Given the description of an element on the screen output the (x, y) to click on. 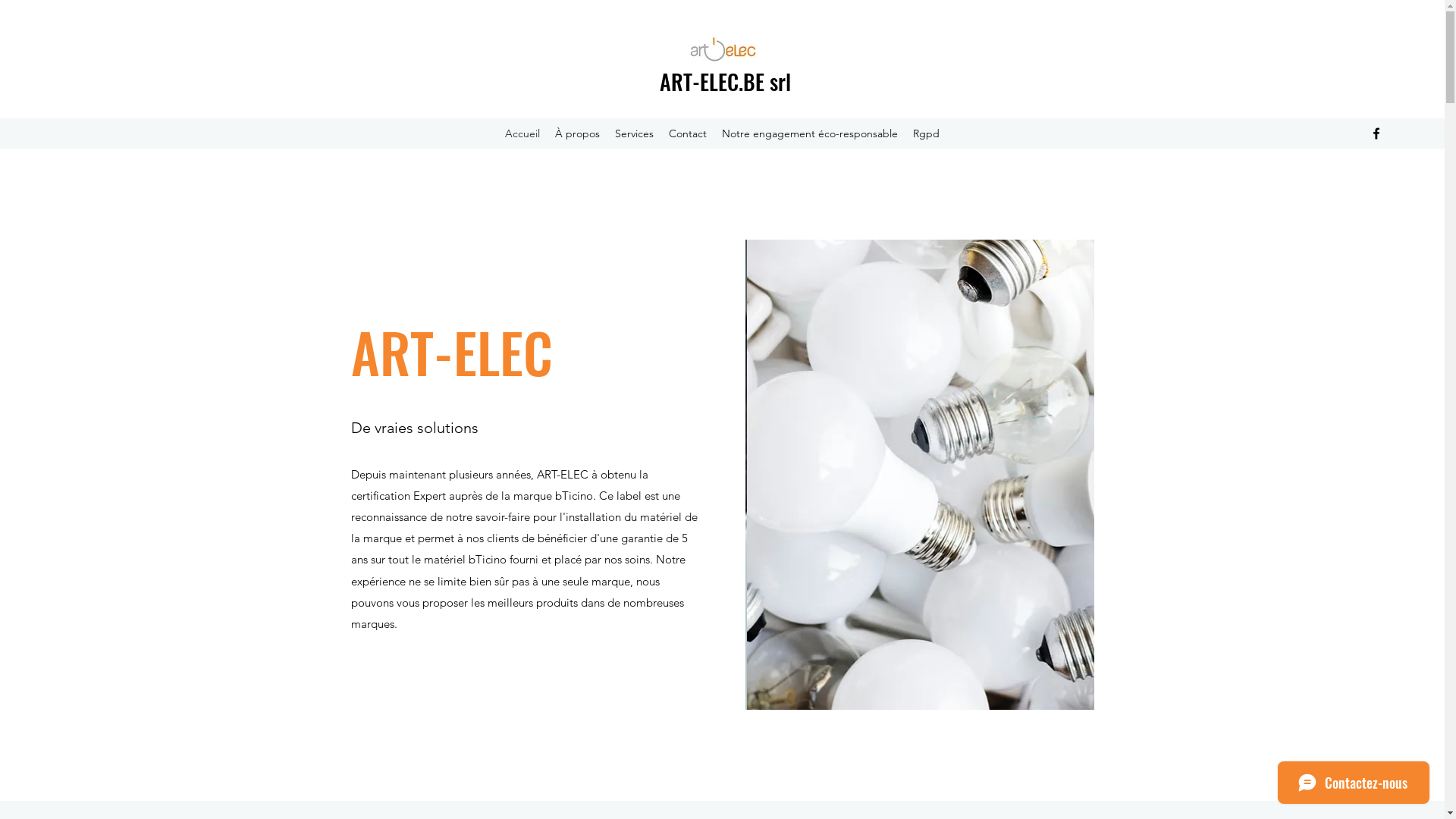
ART-ELEC.BE srl Element type: text (724, 81)
Accueil Element type: text (522, 132)
Contact Element type: text (687, 132)
Rgpd Element type: text (926, 132)
Services Element type: text (634, 132)
